Given the description of an element on the screen output the (x, y) to click on. 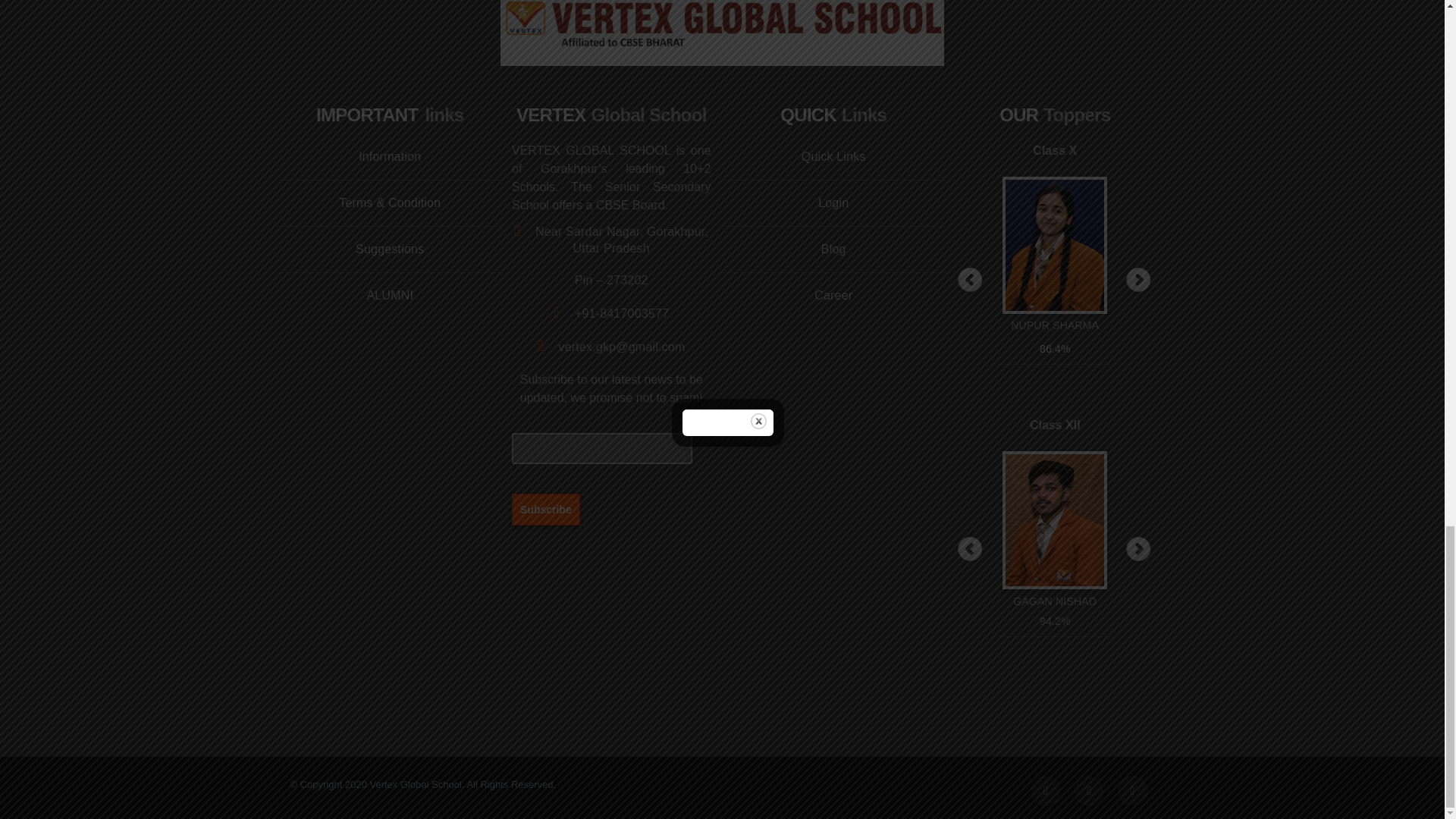
Subscribe (545, 508)
